Given the description of an element on the screen output the (x, y) to click on. 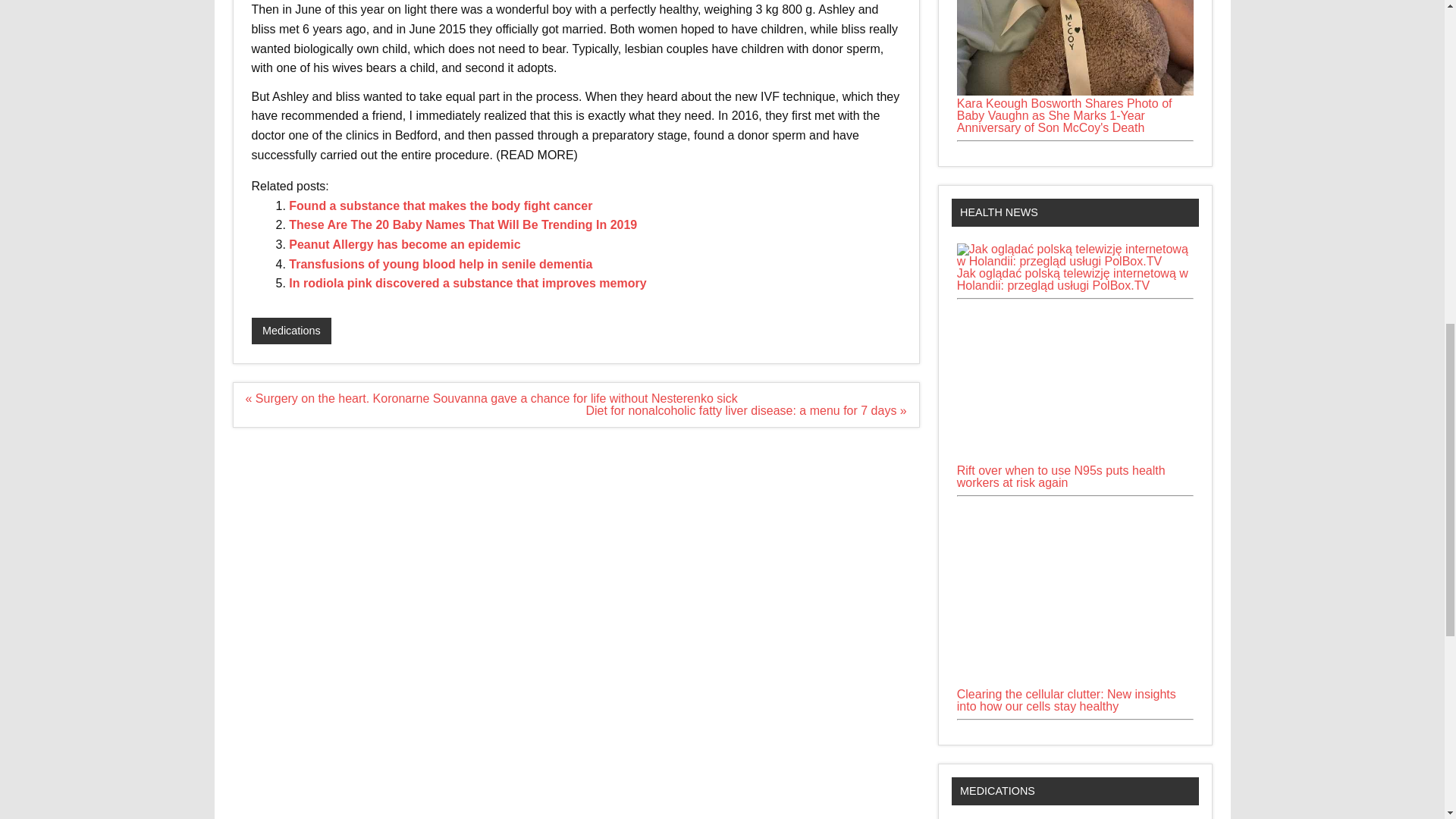
In rodiola pink discovered a substance that improves memory (467, 282)
These Are The 20 Baby Names That Will Be Trending In 2019 (462, 224)
In rodiola pink discovered a substance that improves memory (467, 282)
Transfusions of young blood help in senile dementia (440, 264)
Rift over when to use N95s puts health workers at risk again (1074, 384)
Peanut Allergy has become an epidemic (403, 244)
These Are The 20 Baby Names That Will Be Trending In 2019 (462, 224)
